Given the description of an element on the screen output the (x, y) to click on. 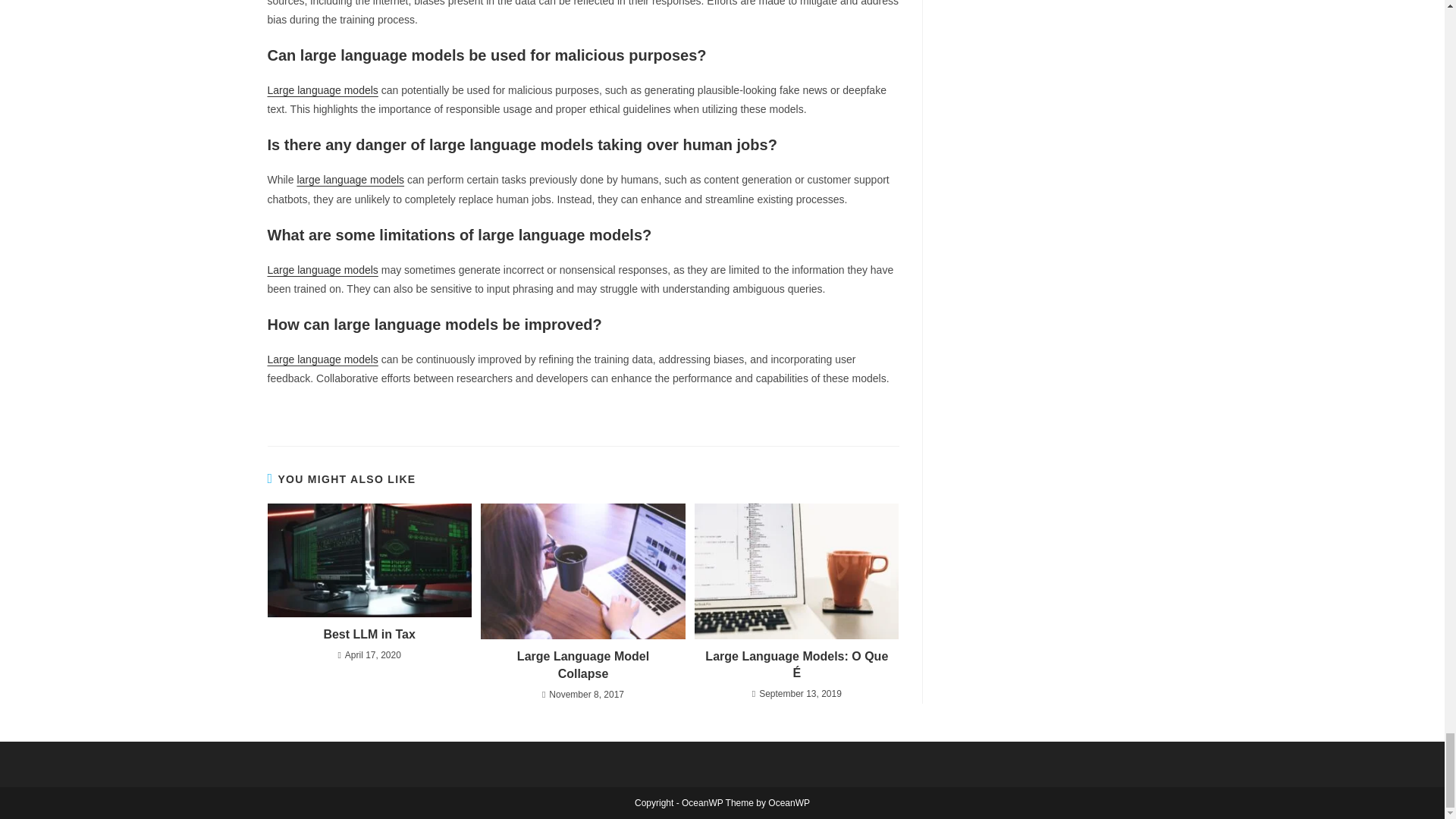
Large language models (321, 90)
